Given the description of an element on the screen output the (x, y) to click on. 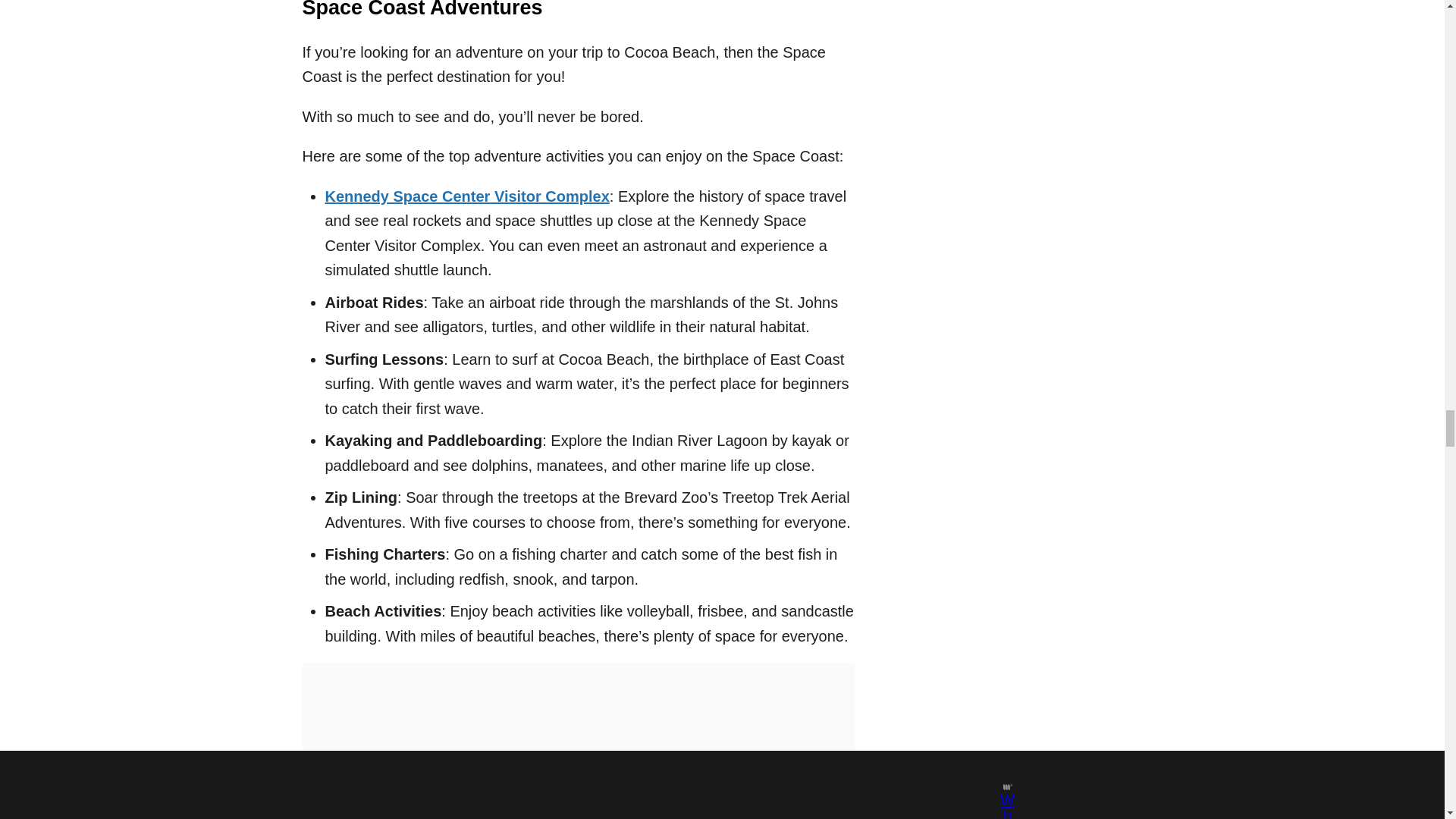
Kennedy Space Center Visitor Complex (466, 196)
